Given the description of an element on the screen output the (x, y) to click on. 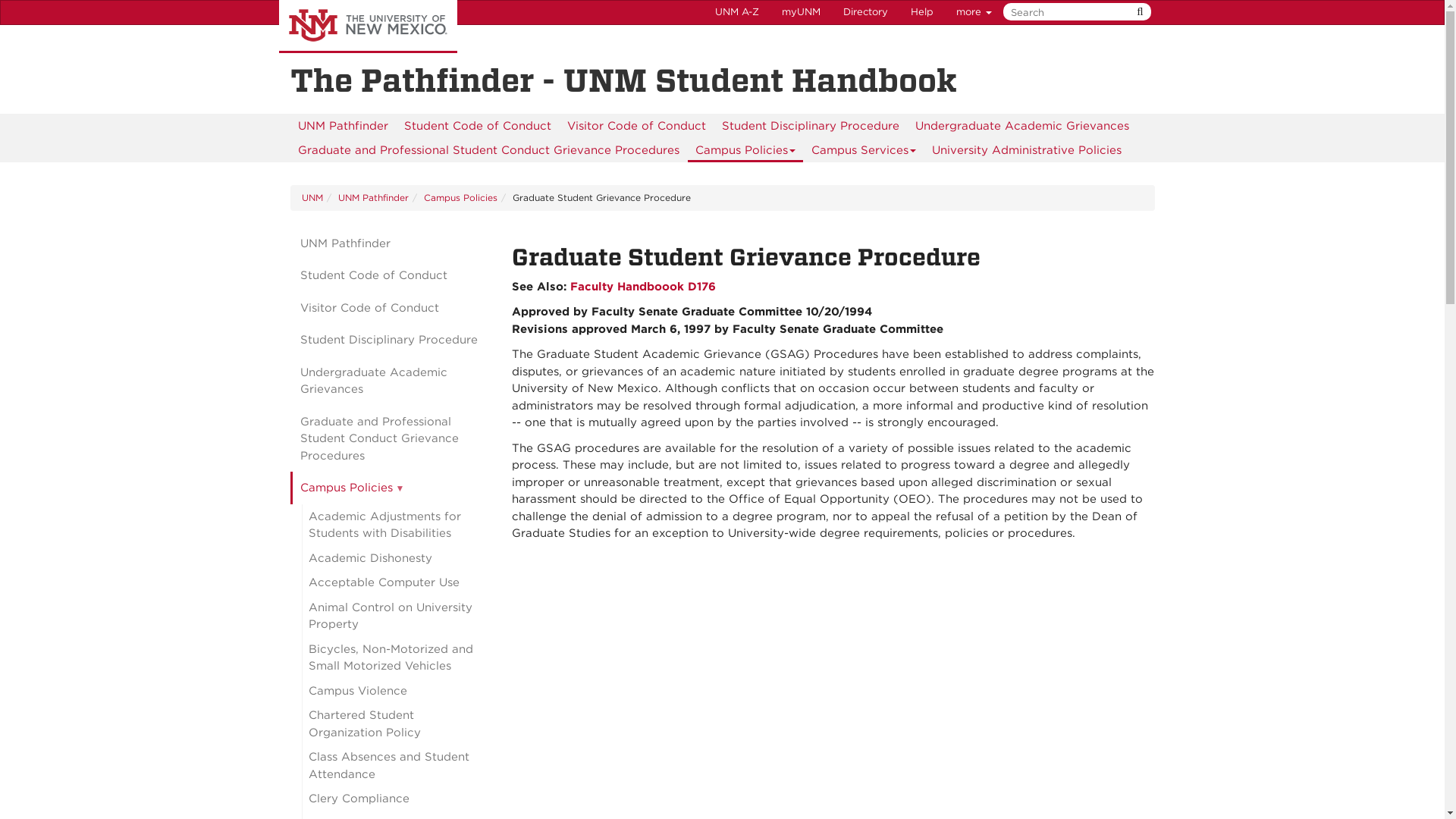
Undergraduate Academic Grievances (1021, 125)
Student Code of Conduct (476, 125)
Undergraduate Academic Grievances (1021, 125)
myUNM (800, 11)
UNM Pathfinder (341, 125)
Help (921, 11)
UNM Pathfinder (341, 125)
Visitor Code of Conduct (636, 125)
Student Disciplinary Procedure (810, 125)
